Given the description of an element on the screen output the (x, y) to click on. 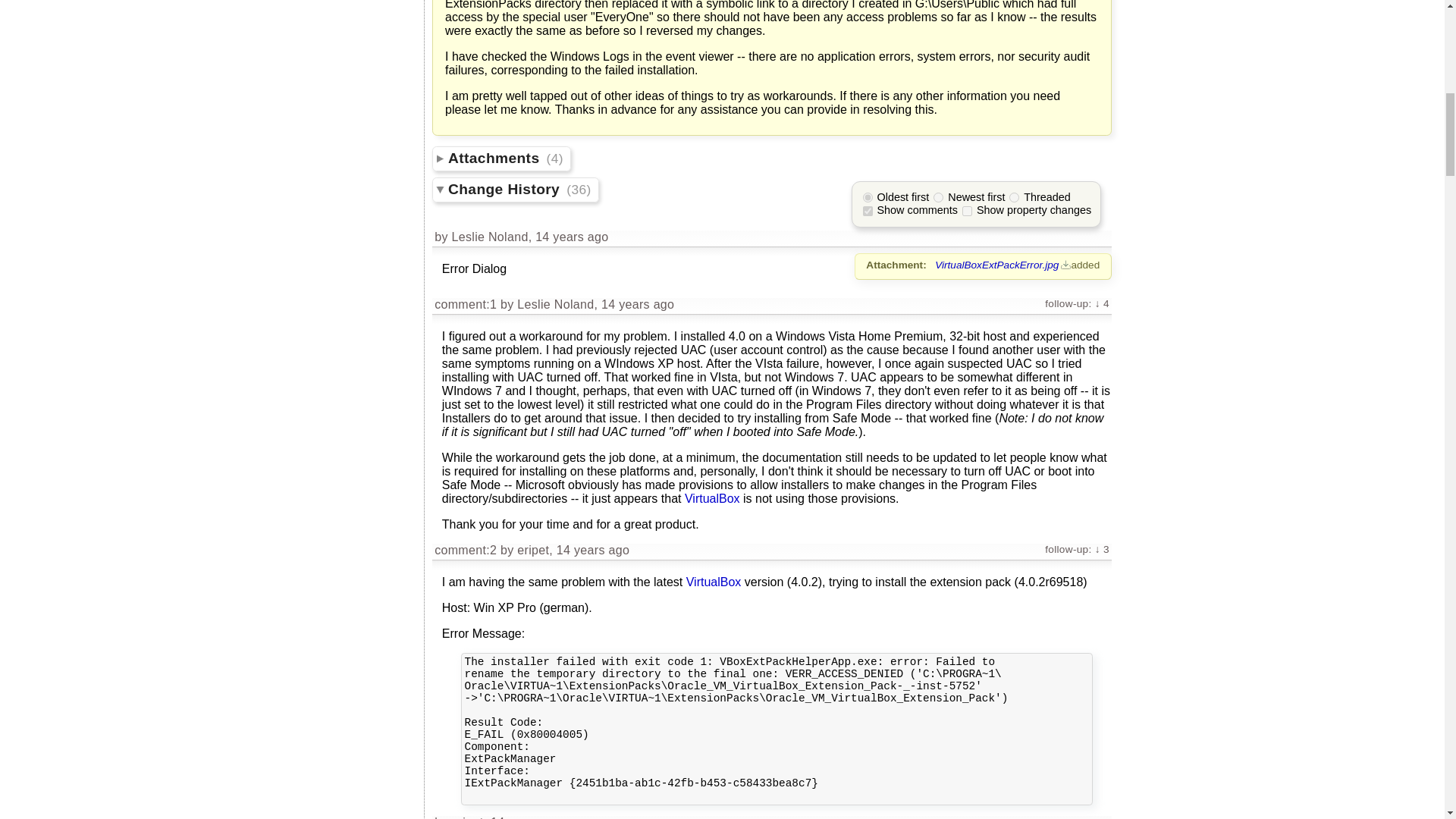
oldest (867, 197)
newest (938, 197)
on (967, 211)
threaded (1014, 197)
on (867, 211)
